Given the description of an element on the screen output the (x, y) to click on. 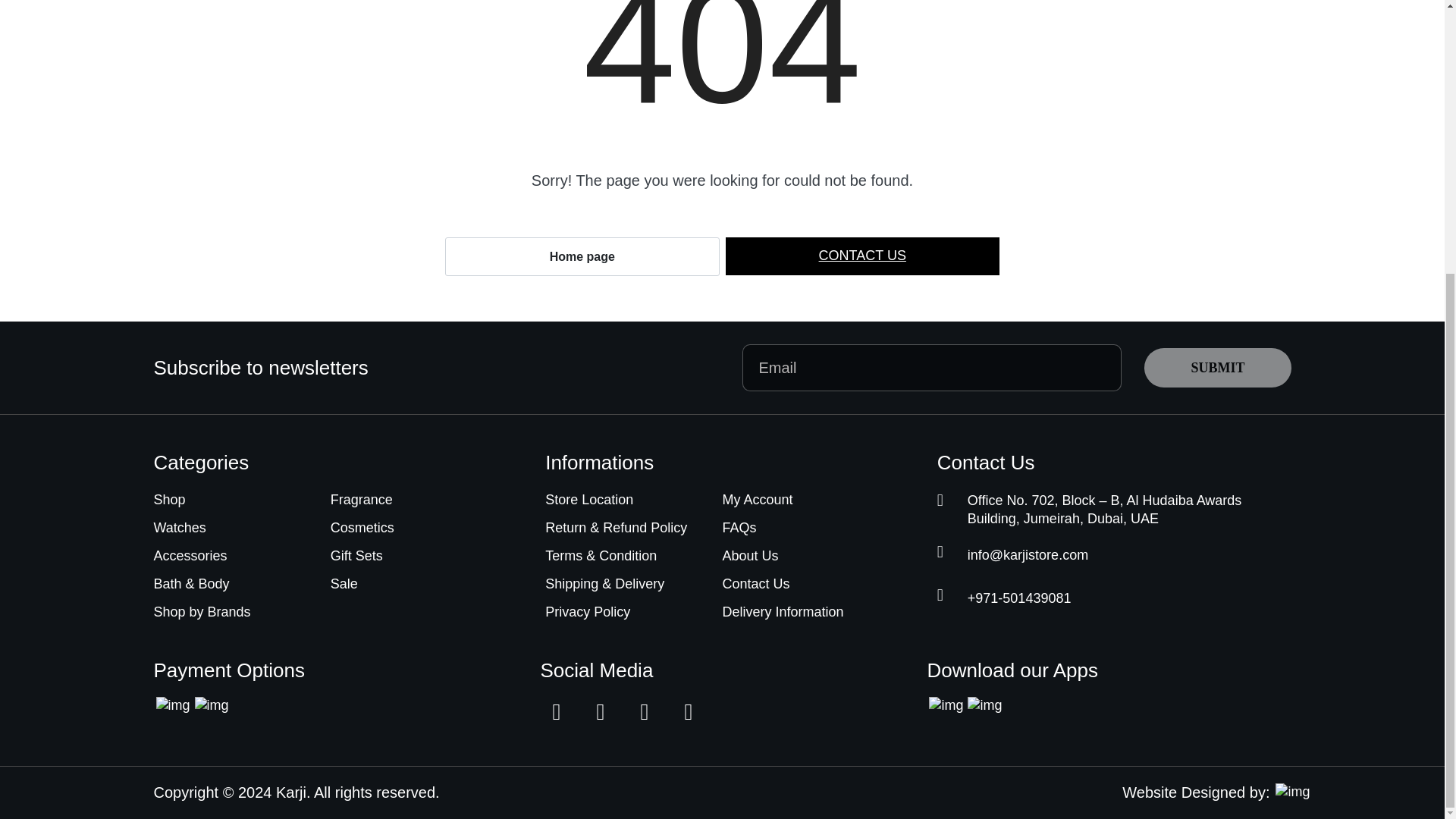
Submit (1217, 367)
